Given the description of an element on the screen output the (x, y) to click on. 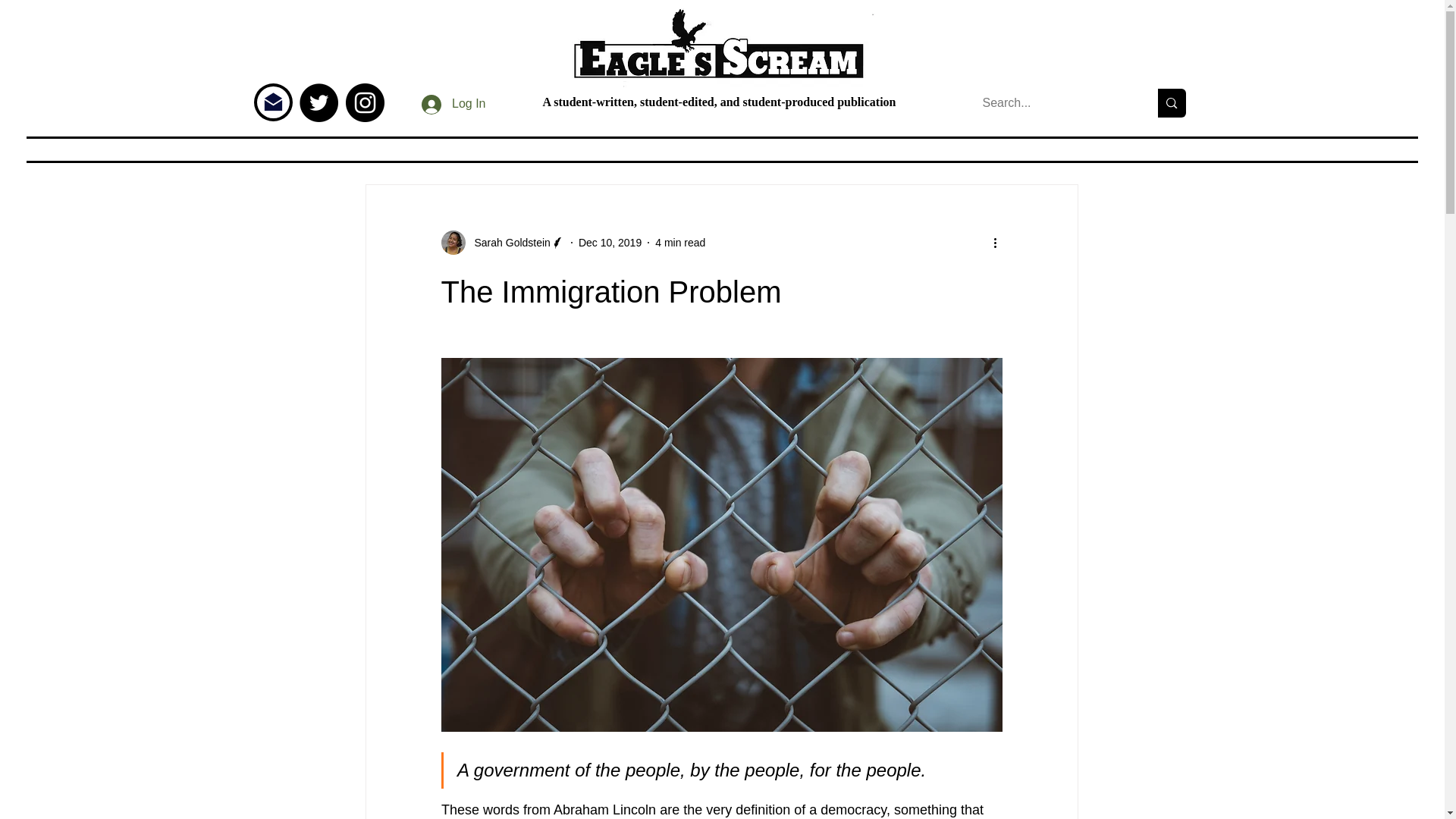
Dec 10, 2019 (610, 242)
Sarah Goldstein (507, 242)
Sarah Goldstein (502, 242)
Log In (453, 103)
4 min read (679, 242)
